Given the description of an element on the screen output the (x, y) to click on. 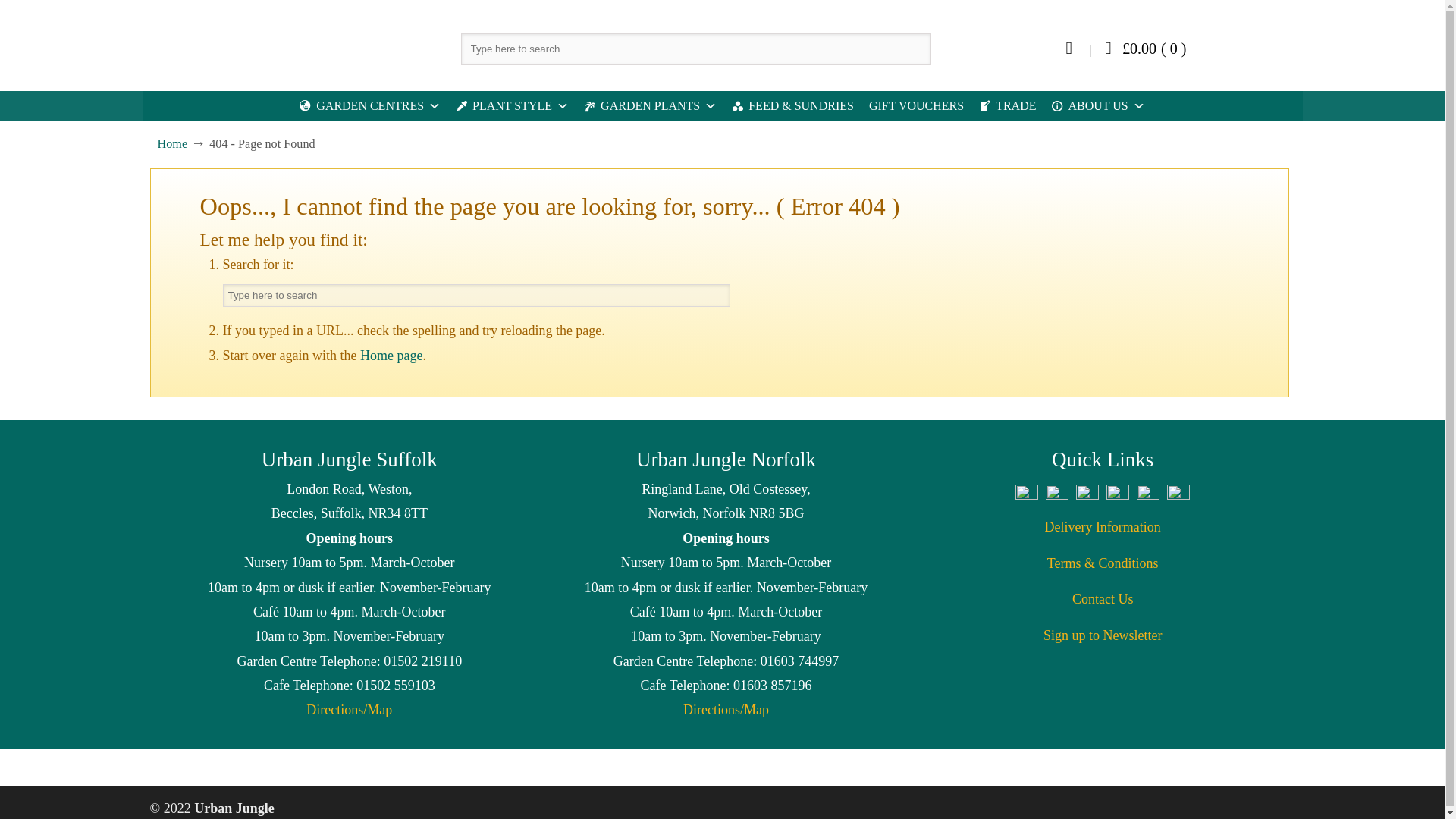
Urban Jungle (232, 45)
GARDEN PLANTS (649, 105)
Urban Jungle (232, 45)
Search (718, 295)
GARDEN CENTRES (370, 105)
ABOUT US (1097, 105)
GIFT VOUCHERS (916, 105)
TRADE (1007, 105)
PLANT STYLE (512, 105)
